Given the description of an element on the screen output the (x, y) to click on. 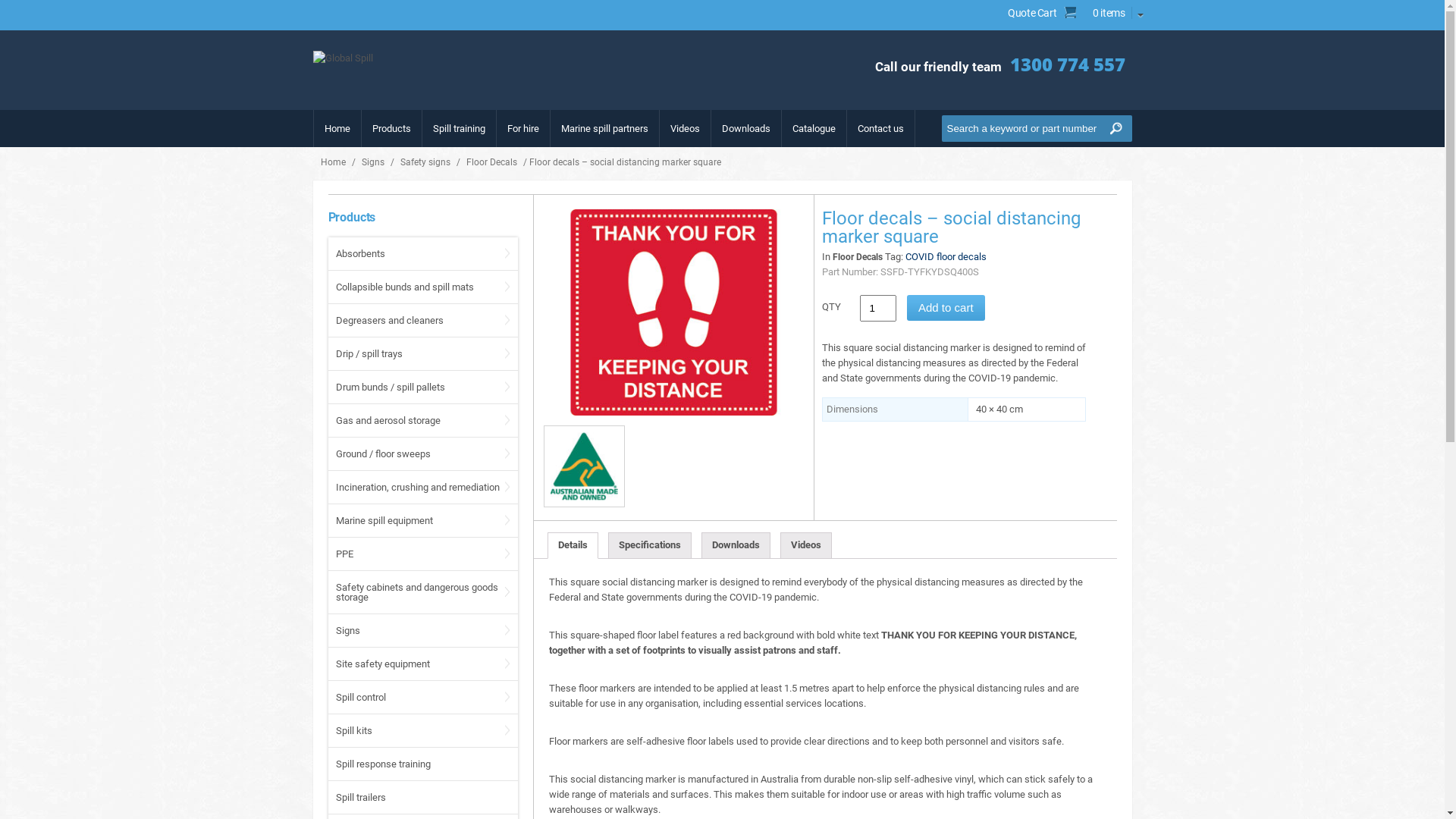
Gas and aerosol storage Element type: text (387, 420)
Signs Element type: text (347, 630)
Incineration, crushing and remediation Element type: text (416, 486)
Products Element type: text (390, 128)
Spill control Element type: text (360, 696)
Details Element type: text (572, 545)
Specifications Element type: text (649, 545)
1300 774 557 Element type: text (1067, 63)
Qty Element type: hover (877, 307)
Spill response training Element type: text (382, 763)
Floor Decals Element type: text (857, 256)
Spill trailers Element type: text (360, 797)
Contact us Element type: text (879, 128)
Site safety equipment Element type: text (382, 663)
Safety signs Element type: text (424, 161)
Drip / spill trays Element type: text (368, 353)
Floor Decals Element type: text (491, 161)
Drum bunds / spill pallets Element type: text (389, 386)
Spill kits Element type: text (353, 730)
COVID floor decals Element type: text (945, 256)
Marine spill equipment Element type: text (383, 520)
Spill training Element type: text (458, 128)
Add to cart Element type: text (945, 307)
Degreasers and cleaners Element type: text (388, 320)
Videos Element type: text (805, 545)
Home Element type: text (332, 161)
Australian Made Element type: hover (584, 465)
Downloads Element type: text (735, 545)
Signs Element type: text (372, 161)
Absorbents Element type: text (359, 253)
Downloads Element type: text (746, 128)
Marine spill partners Element type: text (604, 128)
Catalogue Element type: text (813, 128)
Safety cabinets and dangerous goods storage Element type: text (416, 591)
Quote Cart Element type: text (1031, 12)
Home Element type: text (336, 128)
Videos Element type: text (684, 128)
Ground / floor sweeps Element type: text (382, 453)
Collapsible bunds and spill mats Element type: text (404, 286)
PPE Element type: text (343, 553)
For hire Element type: text (522, 128)
